Given the description of an element on the screen output the (x, y) to click on. 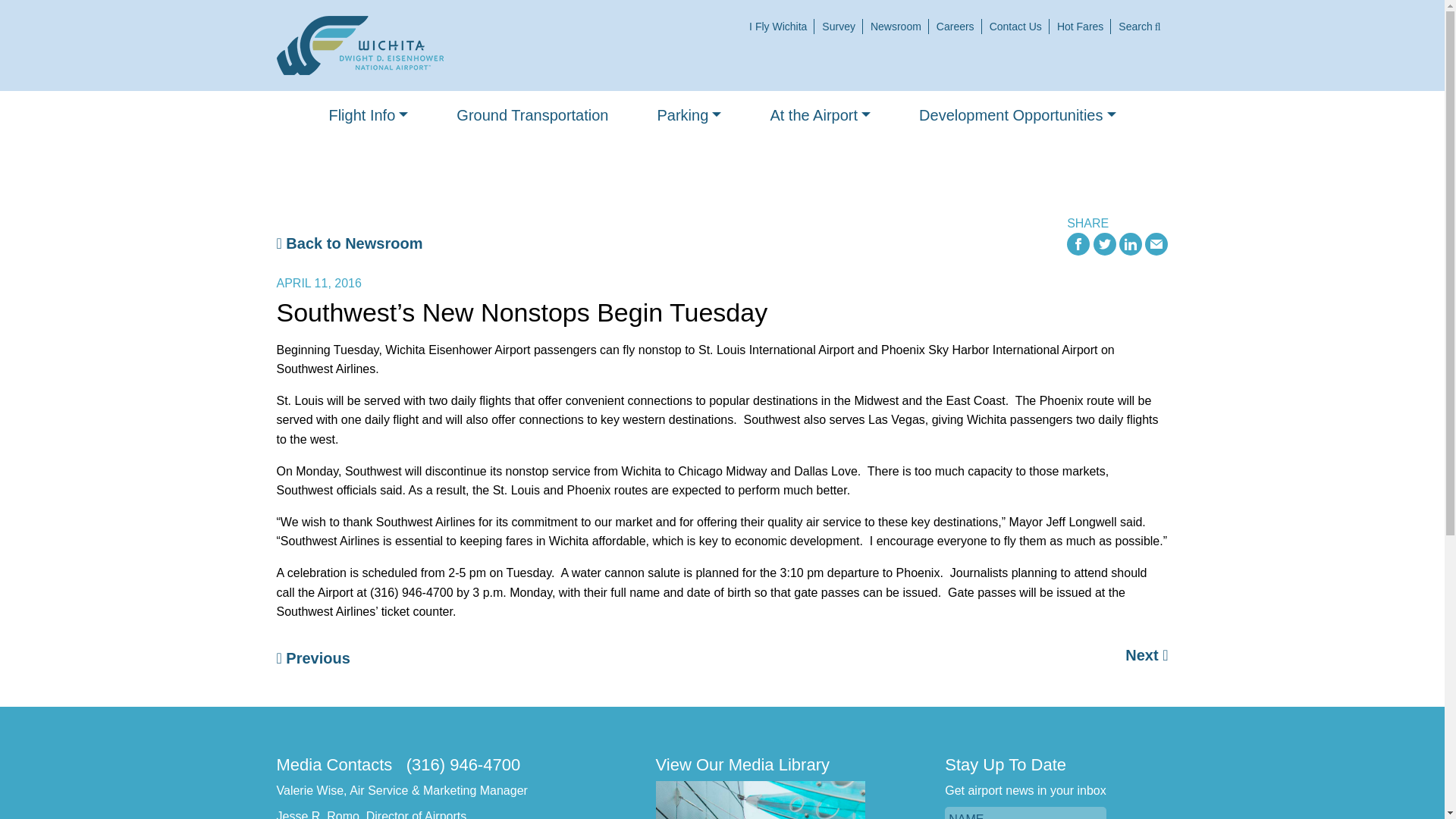
I Fly Wichita (777, 26)
Contact Us (1015, 26)
Search (1138, 26)
Survey (838, 26)
Hot Fares (1079, 26)
Search (1138, 26)
Newsroom (895, 26)
Hot Fares (1079, 26)
Contact Us (1015, 26)
Newsroom (895, 26)
